Given the description of an element on the screen output the (x, y) to click on. 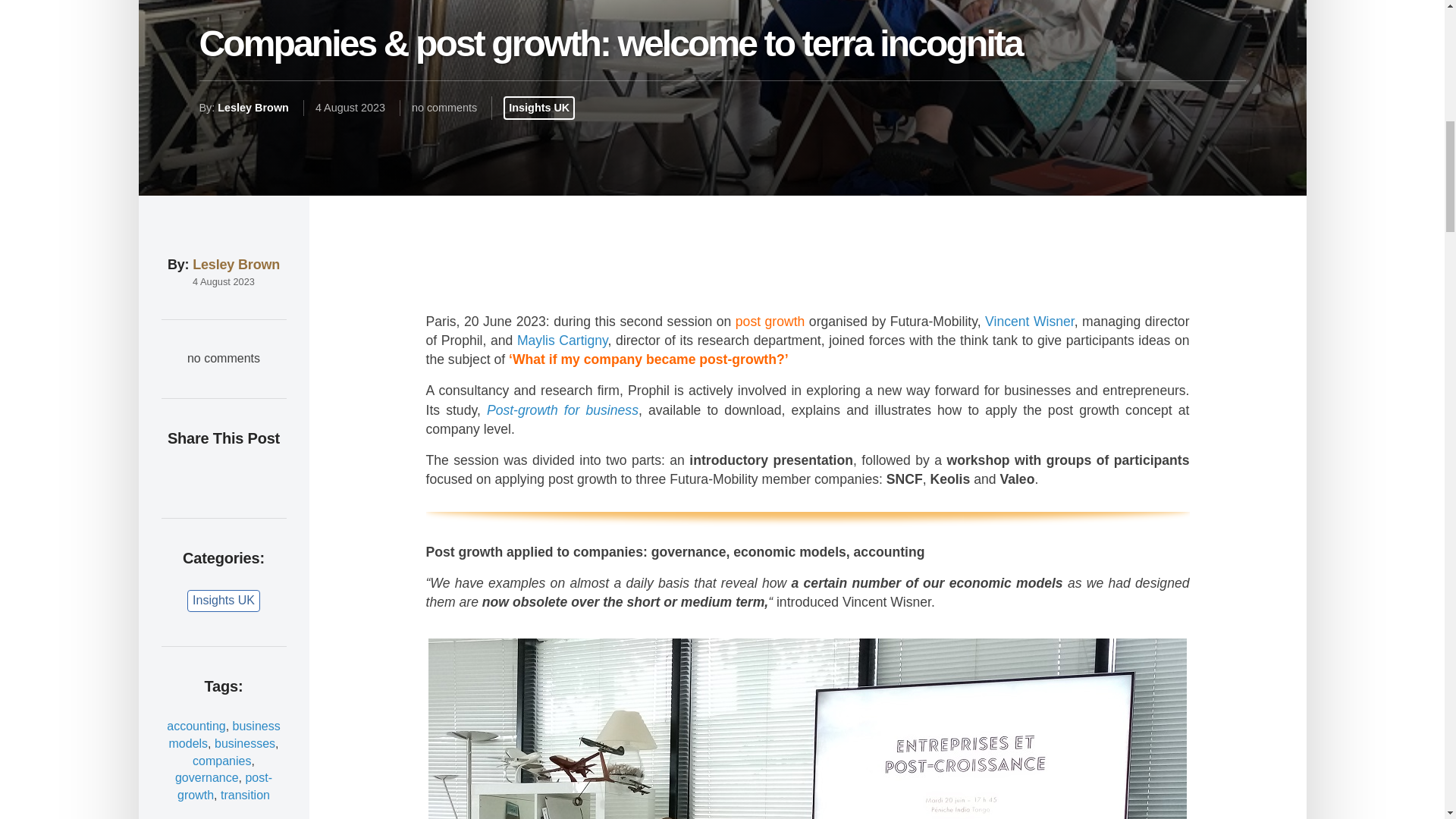
companies (221, 759)
Insights UK (223, 600)
Lesley Brown (235, 264)
businesses (244, 743)
accounting (196, 725)
governance (206, 777)
Insights UK (538, 107)
business models (224, 734)
Lesley Brown (252, 107)
